Given the description of an element on the screen output the (x, y) to click on. 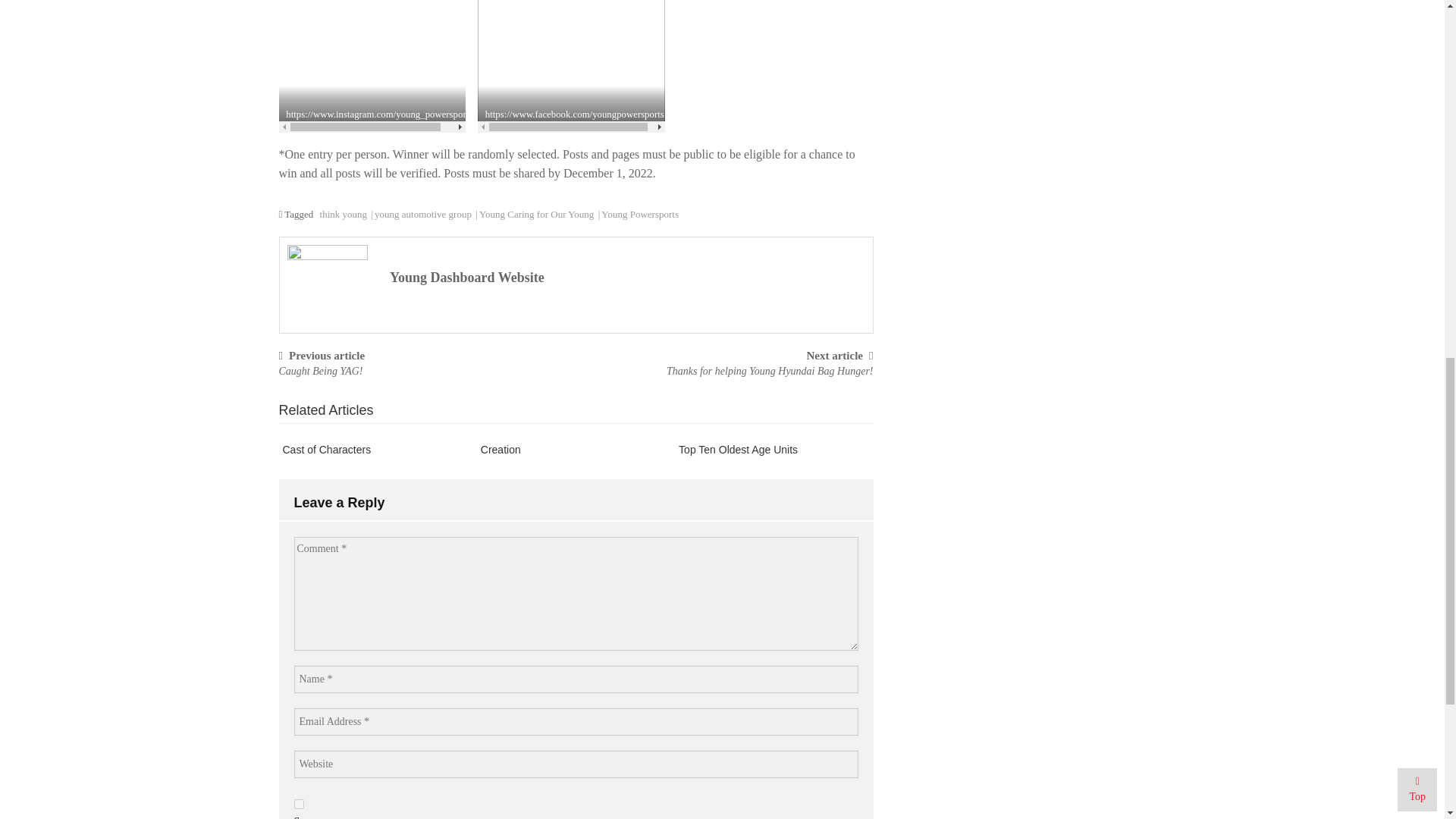
yes (299, 804)
